Given the description of an element on the screen output the (x, y) to click on. 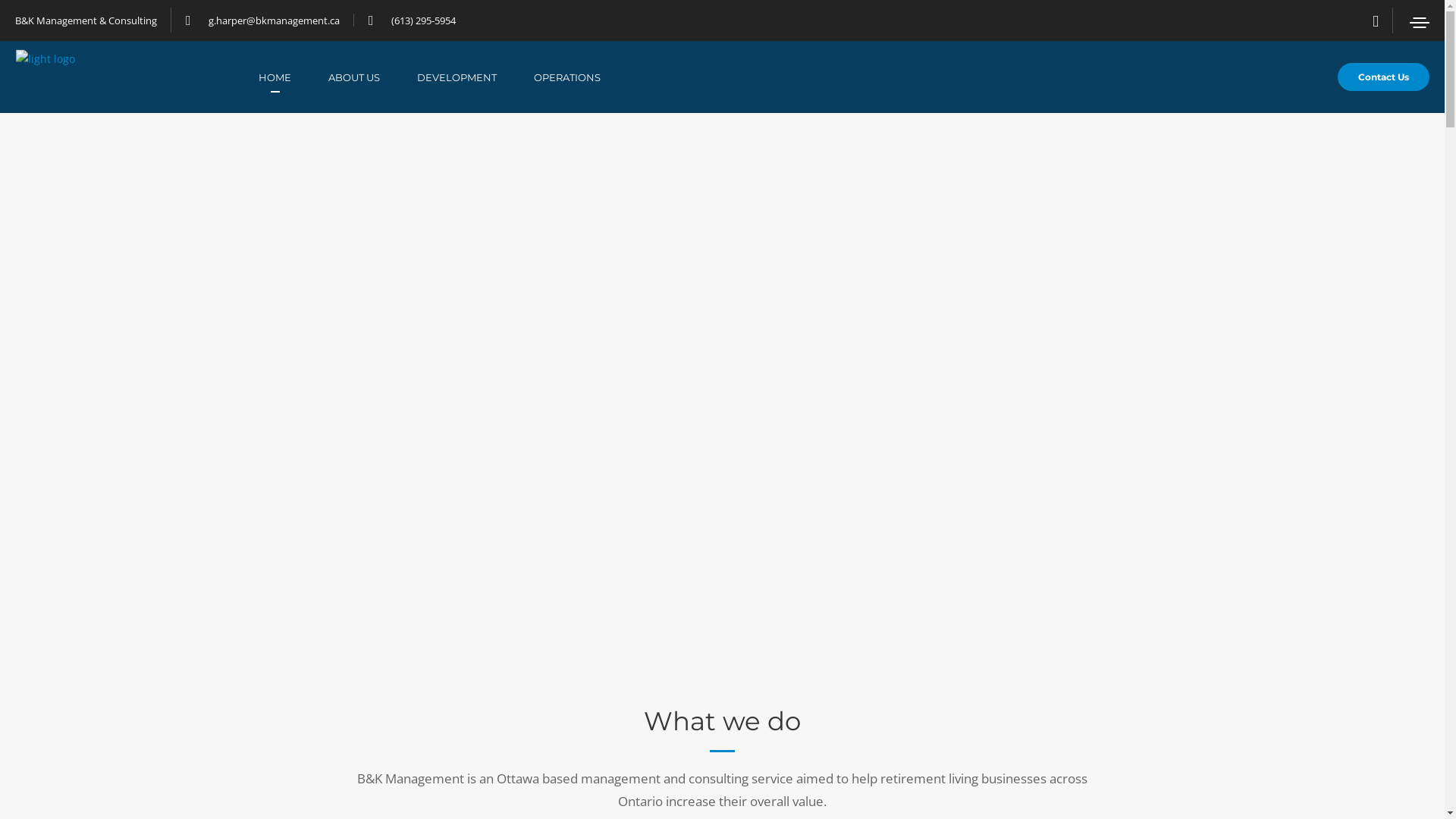
OPERATIONS Element type: text (585, 76)
DEVELOPMENT Element type: text (475, 76)
Contact Us Element type: text (1383, 76)
ABOUT US Element type: text (372, 76)
HOME Element type: text (293, 76)
